Given the description of an element on the screen output the (x, y) to click on. 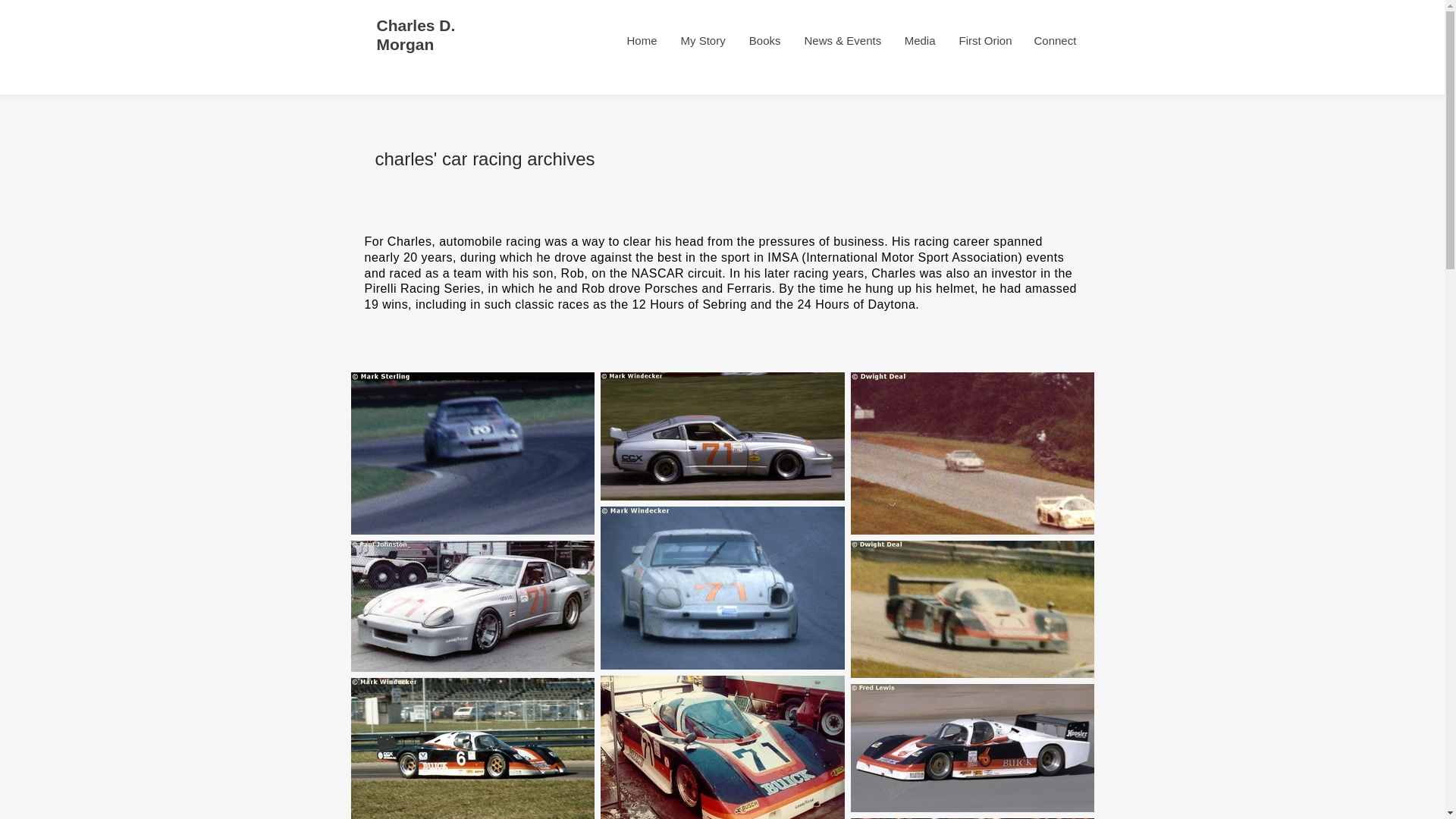
Media (918, 40)
My Story (702, 40)
Books (764, 40)
Charles D. (414, 25)
First Orion (984, 40)
Connect (1054, 40)
Morgan (404, 45)
Home (641, 40)
